Given the description of an element on the screen output the (x, y) to click on. 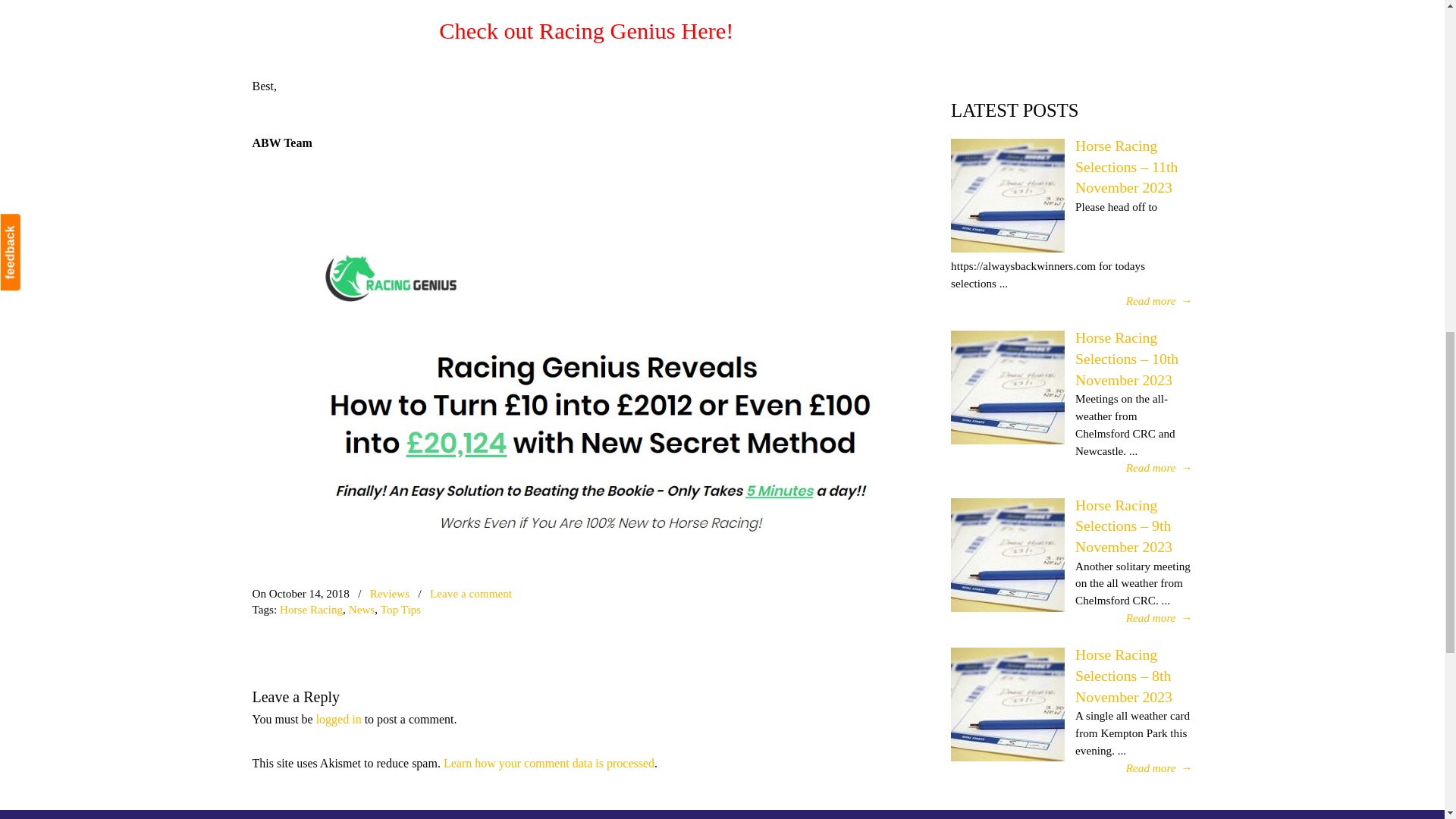
Check out Racing Genius Here! (586, 31)
Leave a comment (470, 593)
logged in (338, 718)
Top Tips (400, 609)
Horse Racing (310, 609)
News (362, 609)
Reviews (389, 593)
Learn how your comment data is processed (548, 762)
